Given the description of an element on the screen output the (x, y) to click on. 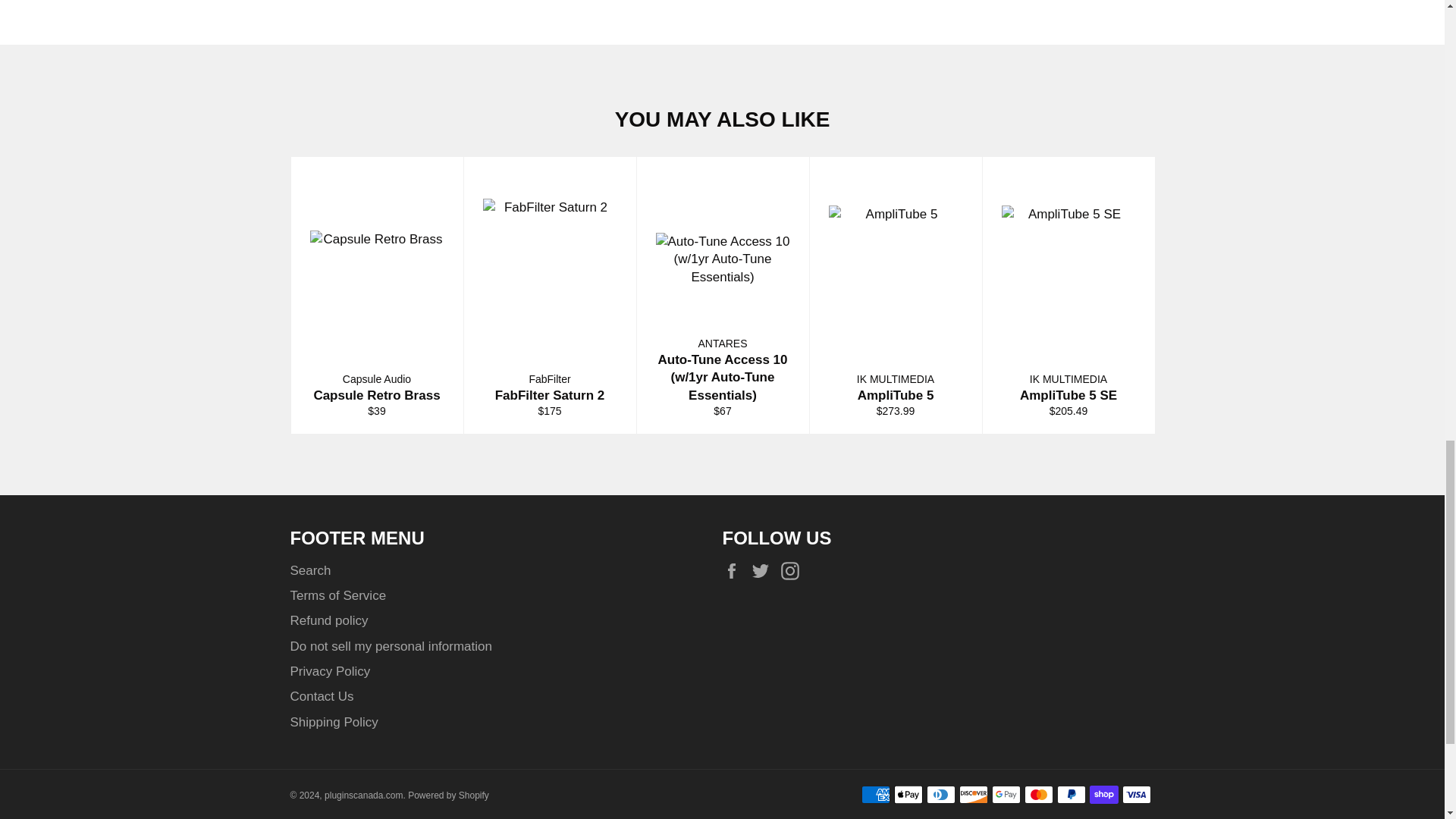
pluginscanada.com on Twitter (764, 570)
pluginscanada.com on Facebook (735, 570)
pluginscanada.com on Instagram (793, 570)
